Given the description of an element on the screen output the (x, y) to click on. 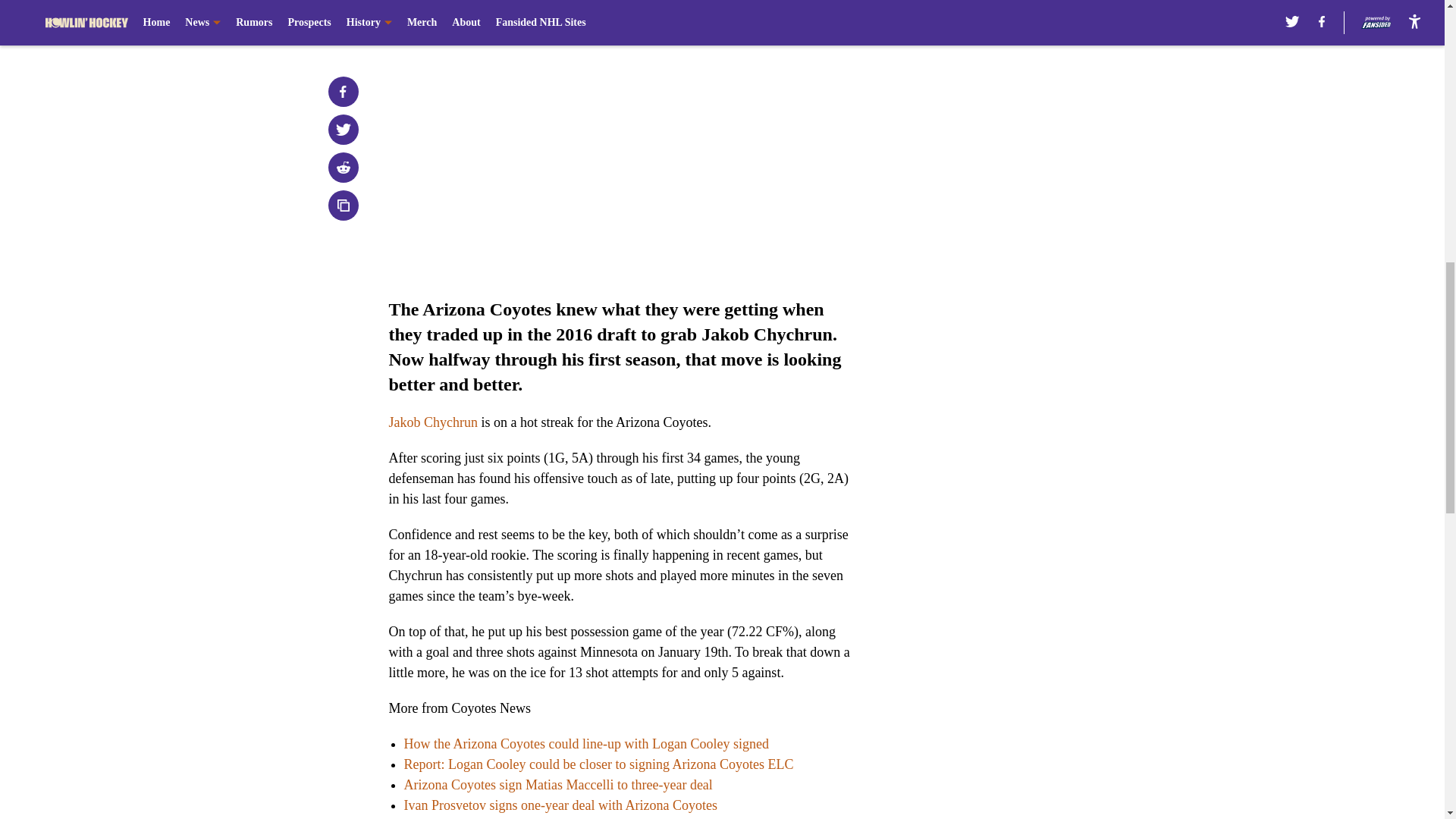
Ivan Prosvetov signs one-year deal with Arizona Coyotes (559, 805)
Arizona Coyotes sign Matias Maccelli to three-year deal (557, 784)
Jakob Chychrun (432, 421)
